Given the description of an element on the screen output the (x, y) to click on. 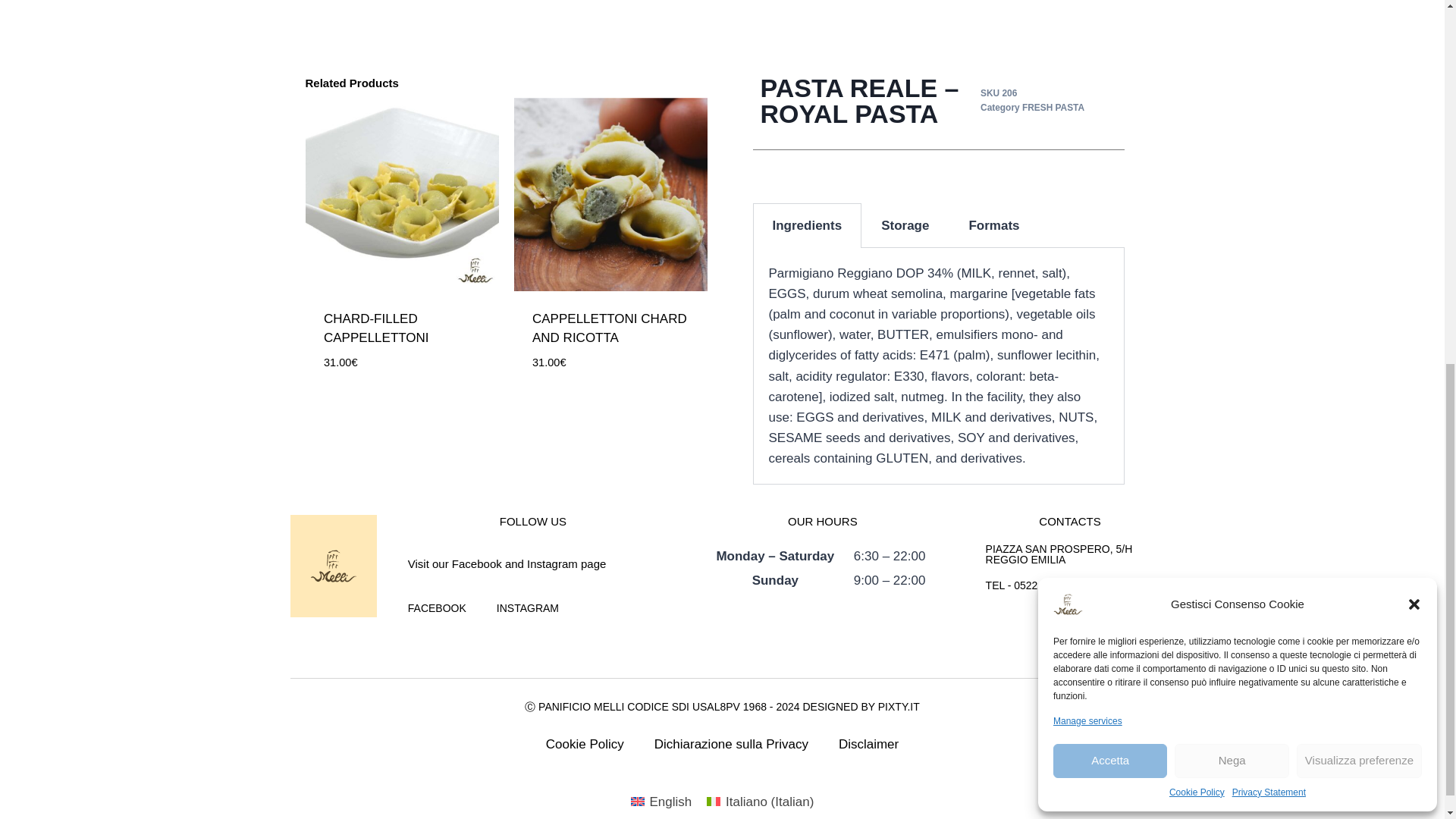
Nega (1231, 91)
Privacy Statement (1268, 123)
Cookie Policy (1196, 123)
Accetta (1109, 91)
Manage services (1087, 51)
Visualizza preferenze (1359, 91)
